Given the description of an element on the screen output the (x, y) to click on. 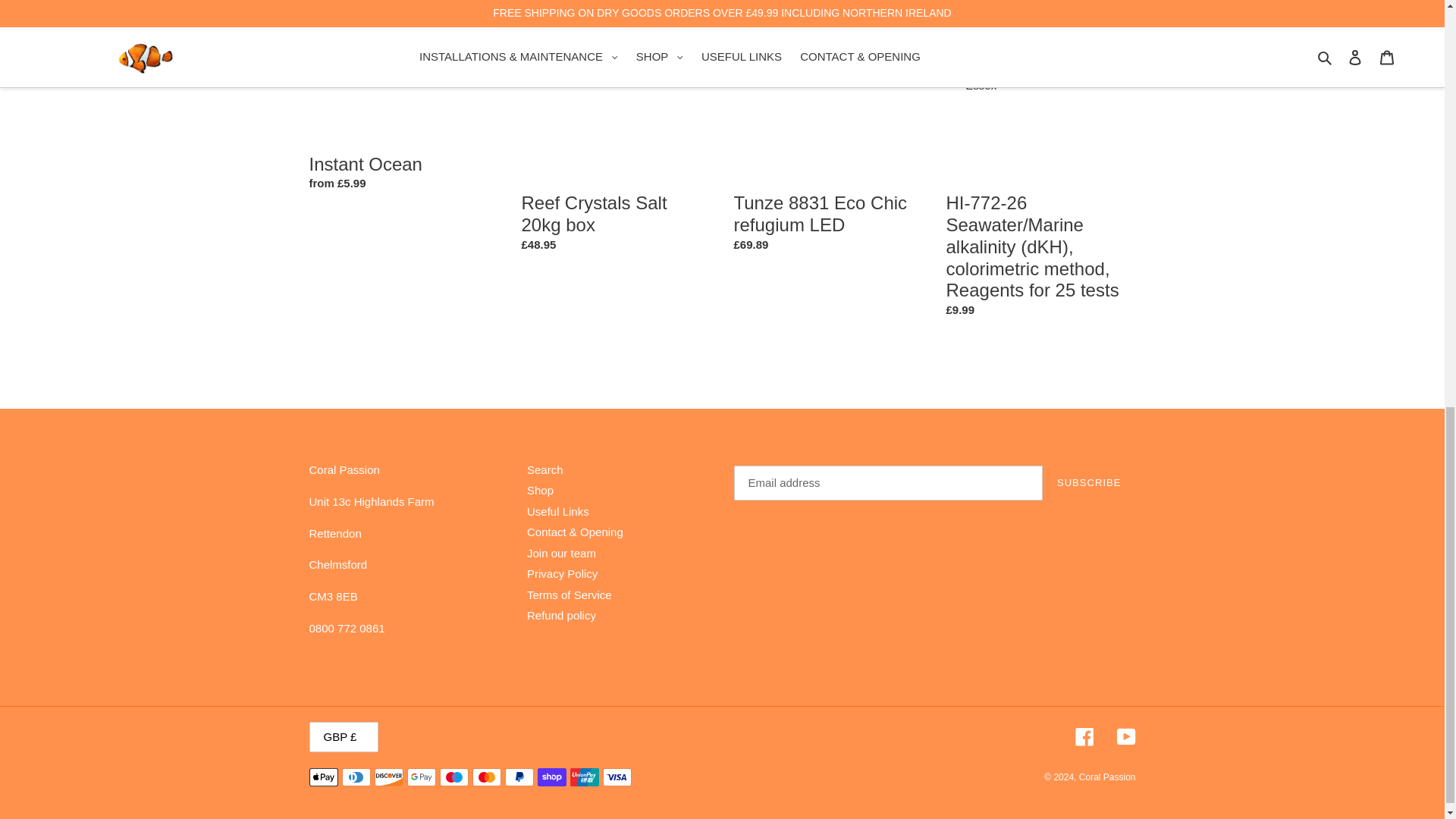
PayPal (519, 777)
Union Pay (584, 777)
Mastercard (485, 777)
Discover (388, 777)
Apple Pay (322, 777)
Google Pay (420, 777)
Shop Pay (551, 777)
Diners Club (354, 777)
Maestro (453, 777)
Visa (616, 777)
